Given the description of an element on the screen output the (x, y) to click on. 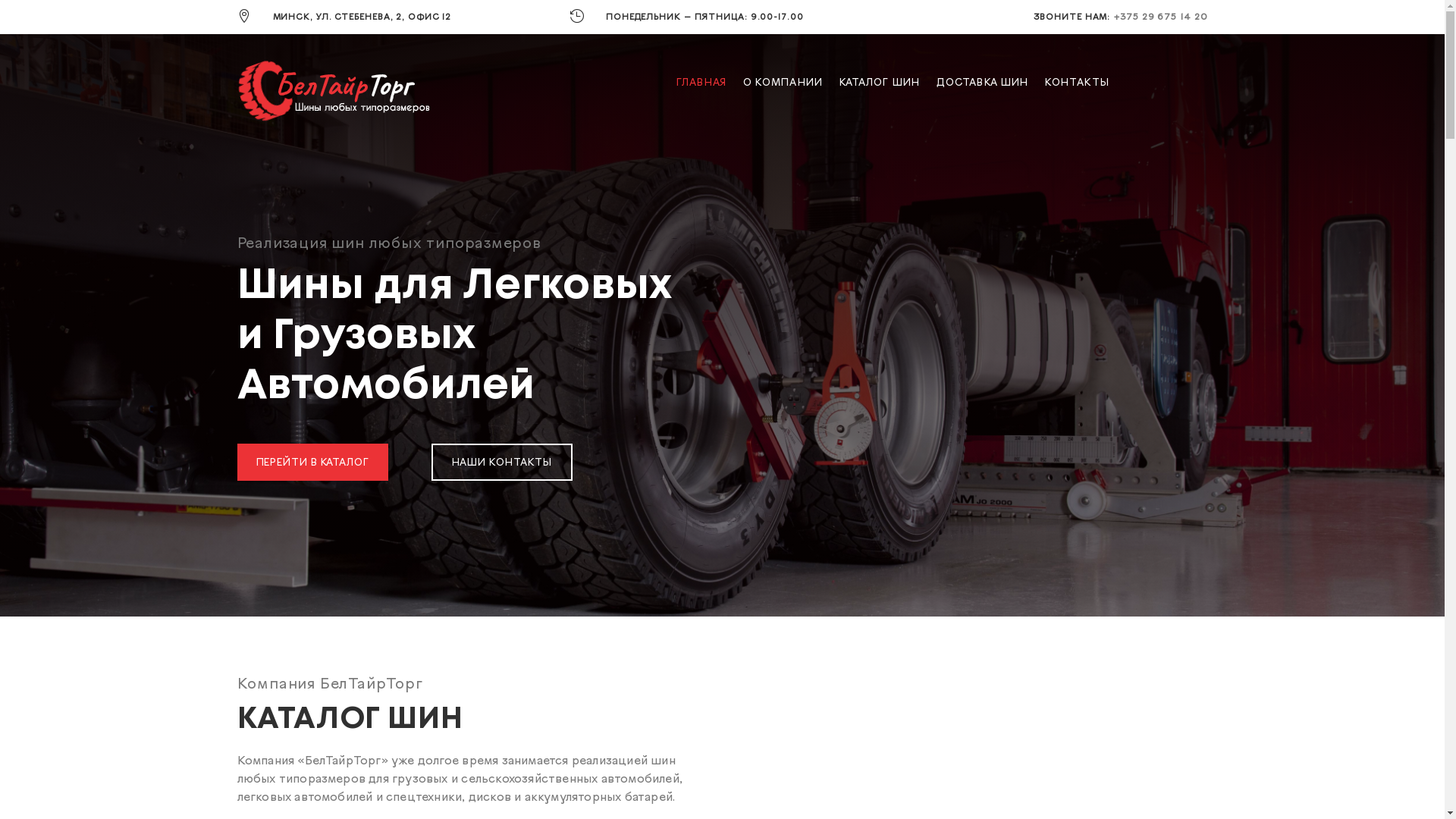
+375 29 675 14 20 Element type: text (1160, 16)
logo Element type: hover (334, 90)
